Given the description of an element on the screen output the (x, y) to click on. 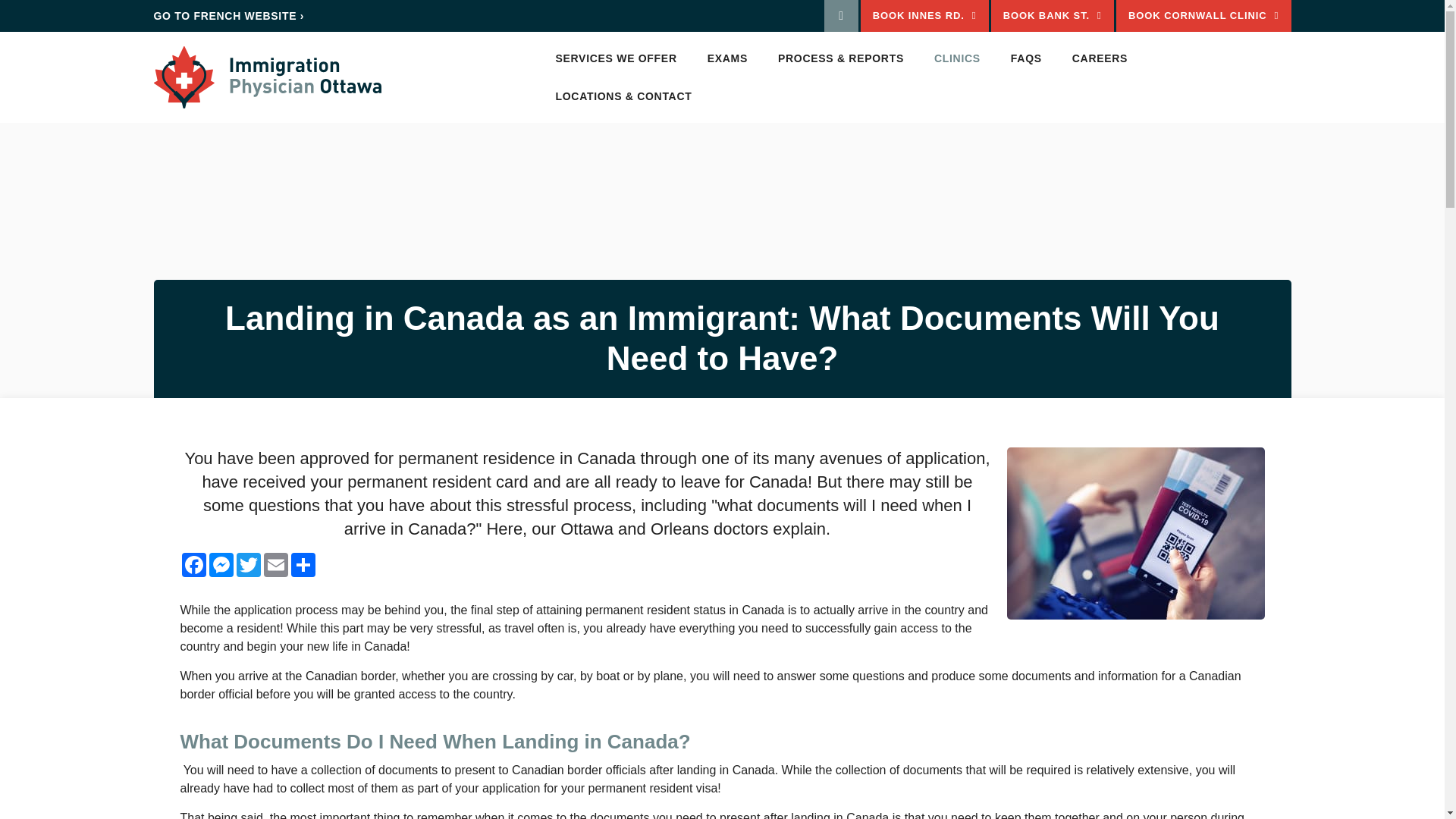
Services (727, 57)
CLINICS (956, 57)
Immigration Medical Exams in Ottawa (840, 57)
Medical Immigration Careers in Ottawa (1099, 57)
BOOK CORNWALL CLINIC (1203, 15)
Link to the French website for Immigration Physician Ottawa (228, 15)
Medical Exam Services We Offer (615, 57)
Contact Immigration Physician Ottawa (623, 95)
CAREERS (1099, 57)
SERVICES WE OFFER (615, 57)
